Given the description of an element on the screen output the (x, y) to click on. 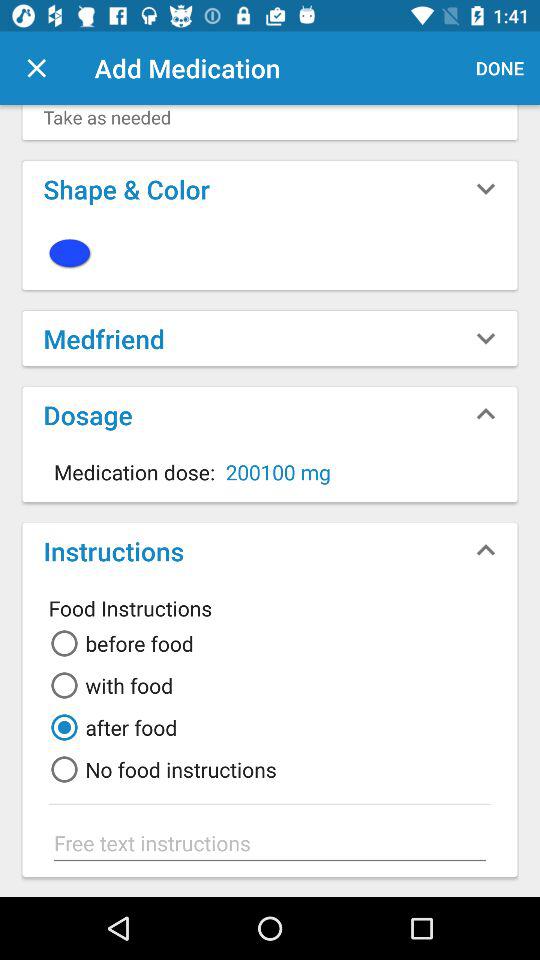
choose after food item (110, 727)
